Given the description of an element on the screen output the (x, y) to click on. 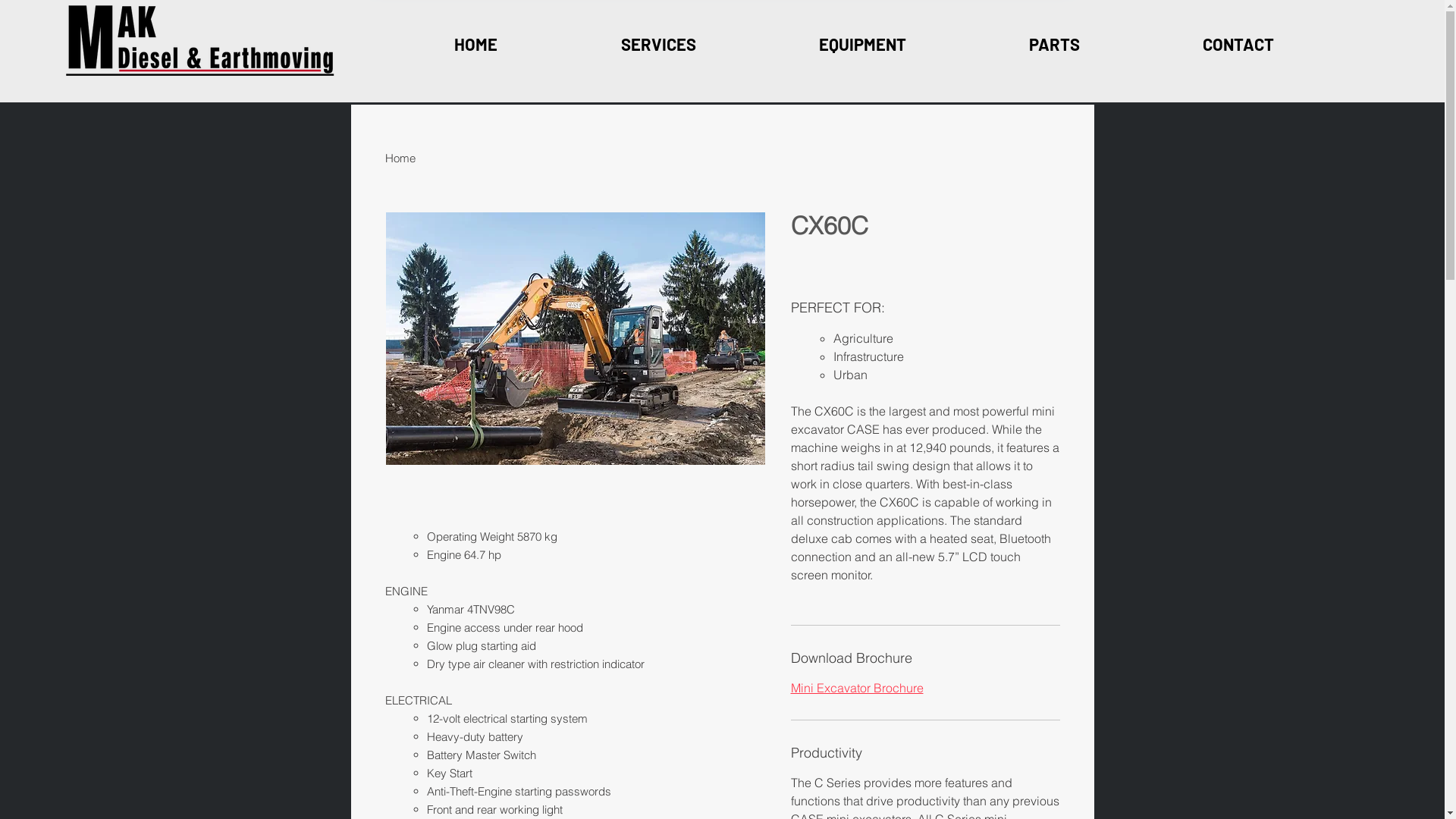
Home Element type: text (400, 157)
SERVICES Element type: text (658, 44)
PARTS Element type: text (1054, 44)
HOME Element type: text (475, 44)
Mini Excavator Brochure Element type: text (856, 687)
CONTACT Element type: text (1237, 44)
EQUIPMENT Element type: text (861, 44)
